Given the description of an element on the screen output the (x, y) to click on. 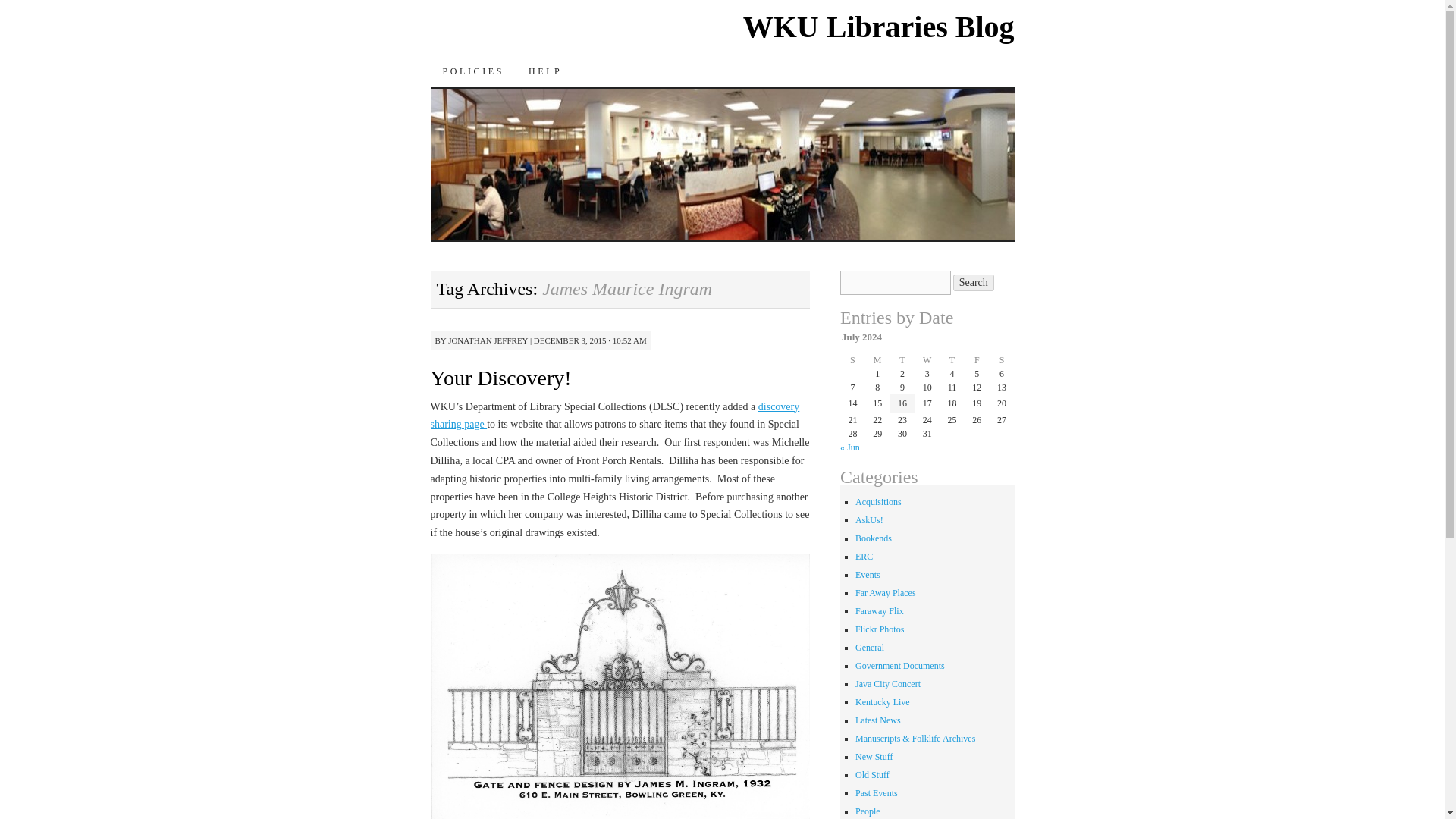
POLICIES (473, 70)
JONATHAN JEFFREY (487, 339)
General (869, 647)
HELP (544, 70)
Bookends (873, 538)
discovery sharing page (614, 415)
Java City Concert (888, 683)
Saturday (1002, 359)
Acquisitions (878, 501)
New Stuff (874, 756)
AskUs! (869, 520)
Government Documents (900, 665)
Flickr Photos (880, 629)
Tuesday (902, 359)
View all posts by Jonathan Jeffrey (487, 339)
